Given the description of an element on the screen output the (x, y) to click on. 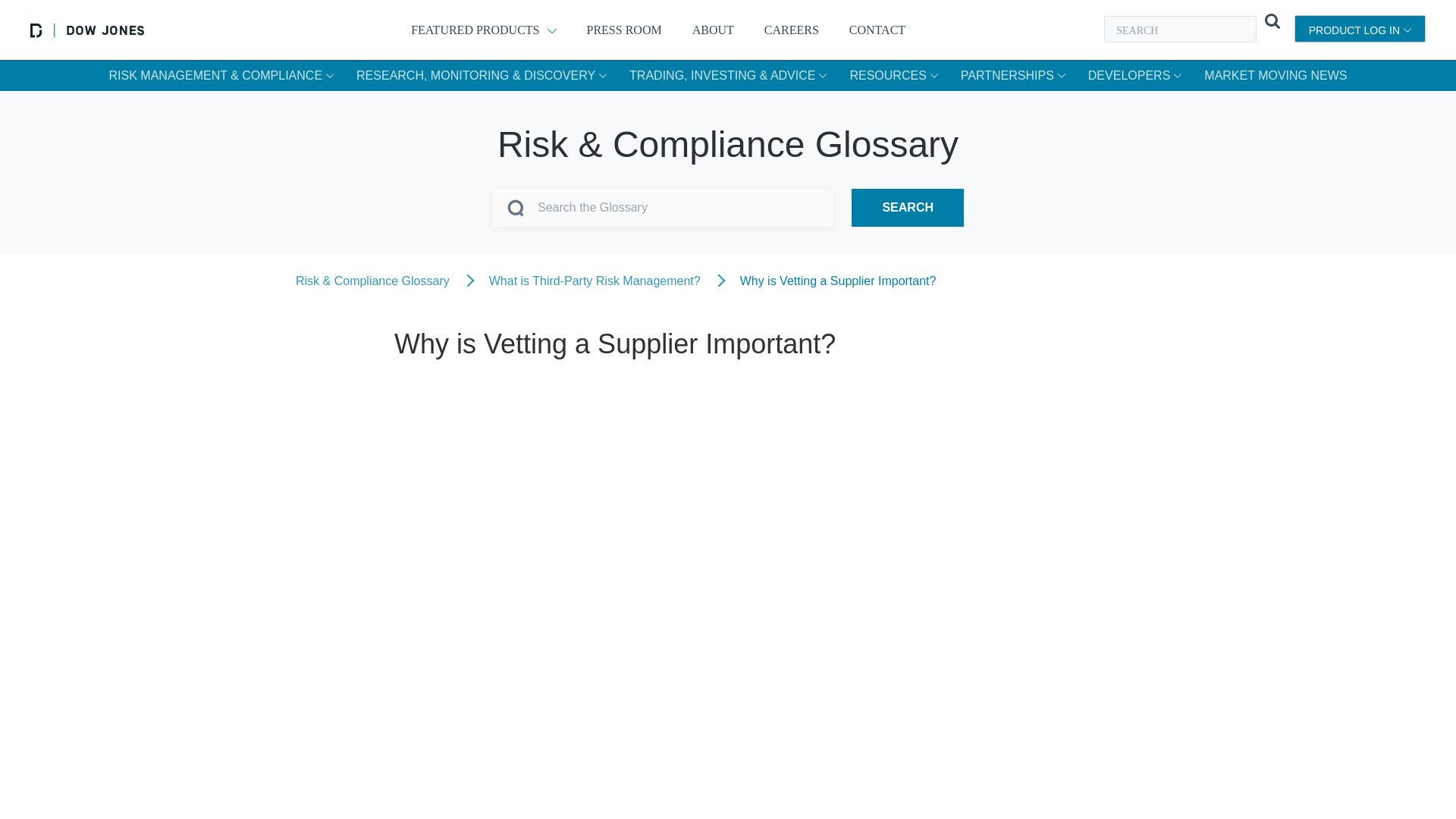
SEARCH (907, 207)
PRODUCT LOG IN (1359, 28)
CAREERS (791, 29)
ABOUT (713, 29)
CONTACT (877, 29)
FEATURED PRODUCTS (483, 29)
PRESS ROOM (624, 29)
